Given the description of an element on the screen output the (x, y) to click on. 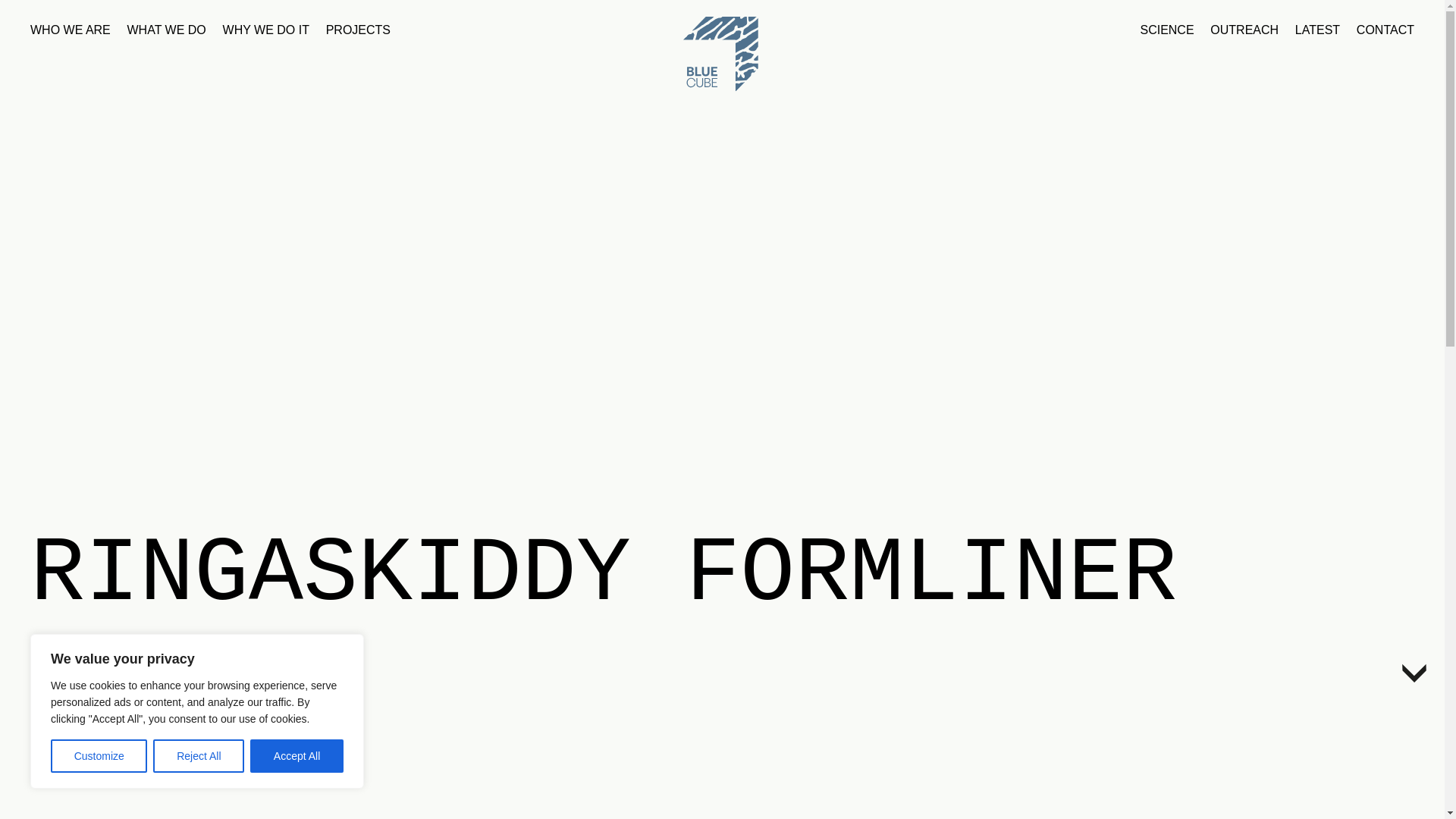
OUTREACH (1243, 31)
WHO WE ARE (70, 31)
Customize (98, 756)
LATEST (1317, 31)
WHY WE DO IT (265, 31)
Reject All (198, 756)
Accept All (296, 756)
CONTACT (1384, 31)
PROJECTS (358, 31)
SCIENCE (1166, 31)
WHAT WE DO (167, 31)
